Given the description of an element on the screen output the (x, y) to click on. 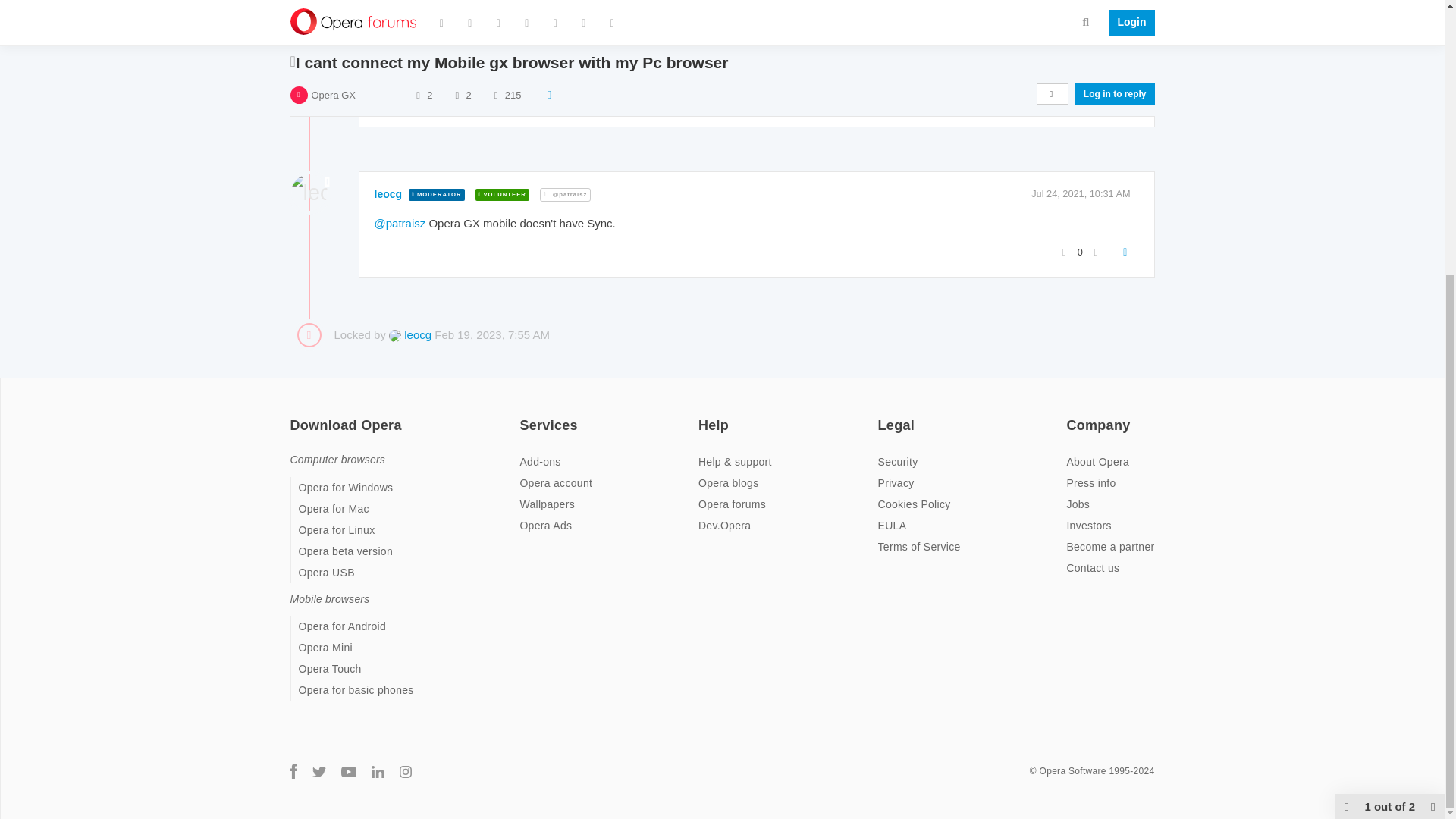
on (702, 415)
on (293, 415)
on (523, 415)
patraisz (394, 27)
on (1070, 415)
Jul 24, 2021, 7:57 AM (1082, 26)
on (881, 415)
